Given the description of an element on the screen output the (x, y) to click on. 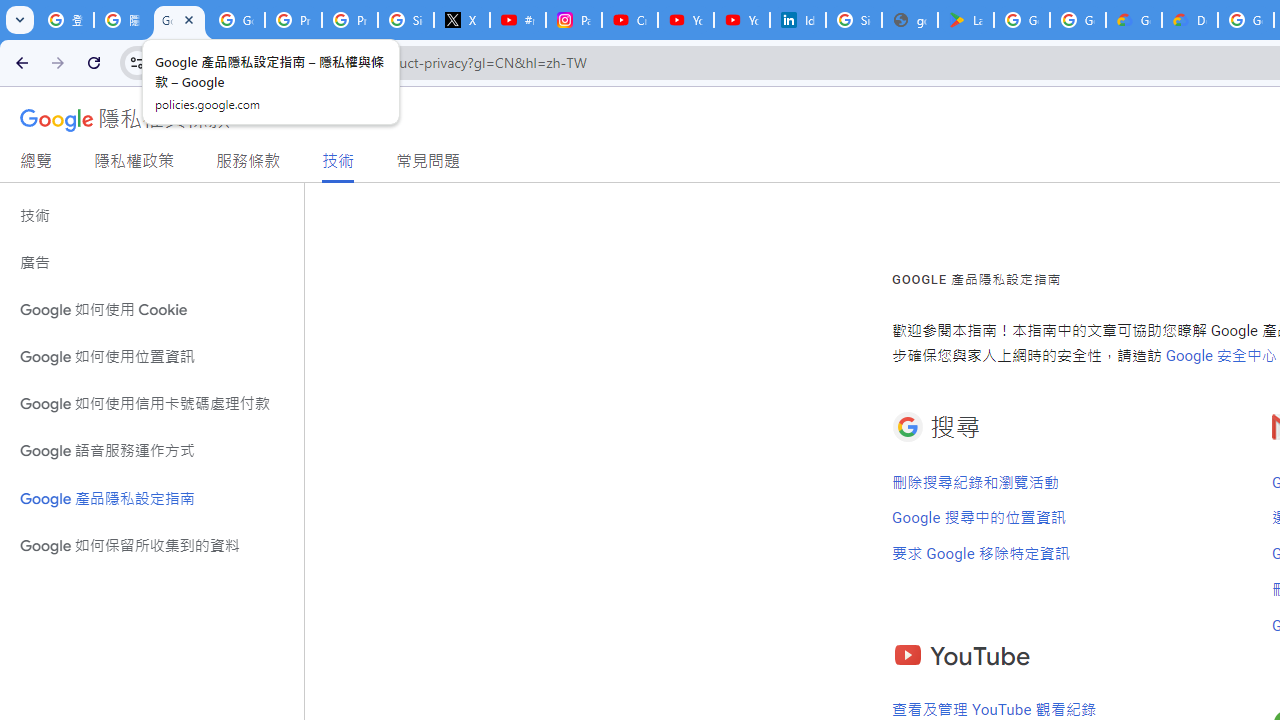
Google Workspace - Specific Terms (1077, 20)
